Given the description of an element on the screen output the (x, y) to click on. 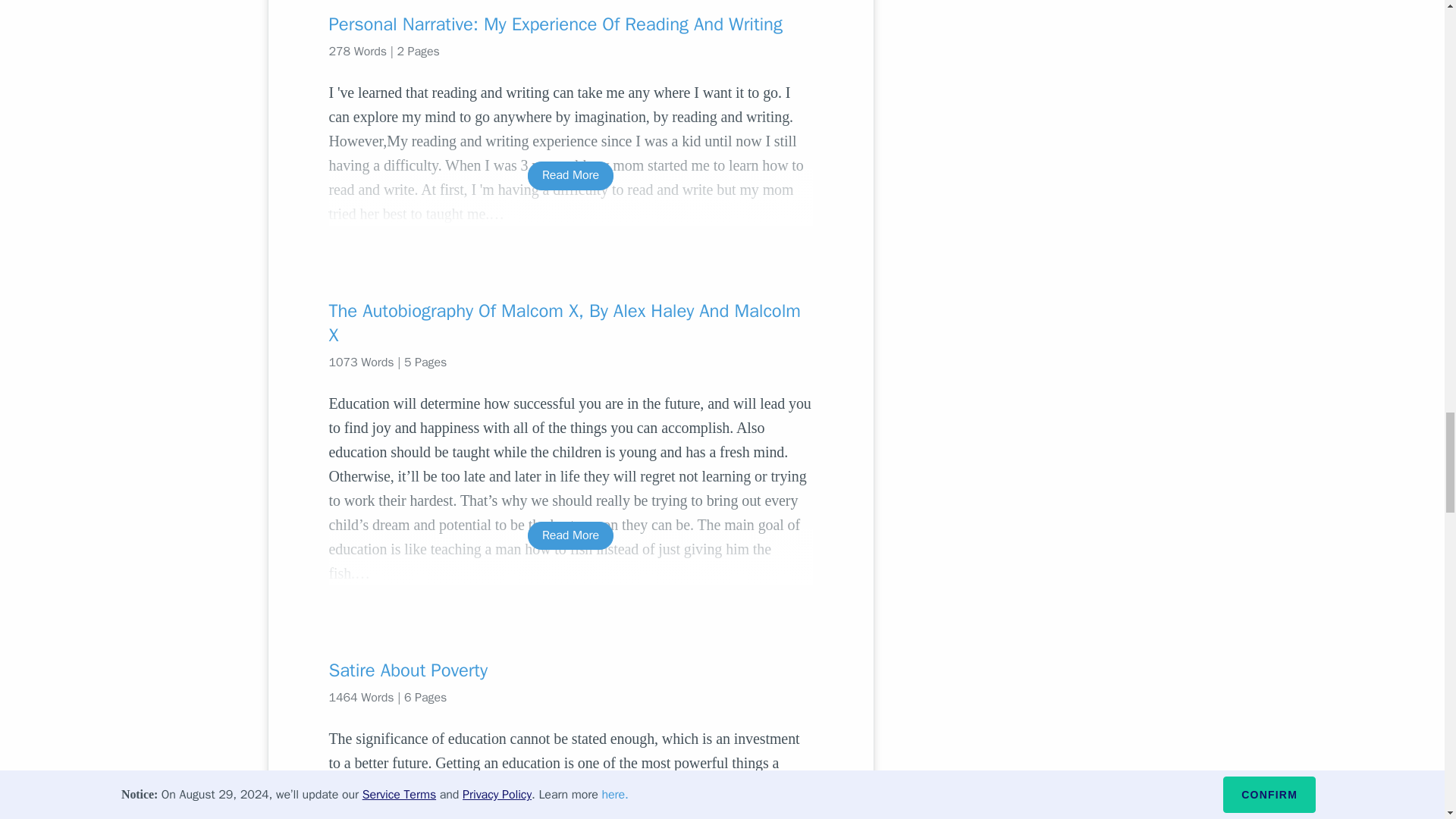
Satire About Poverty (570, 670)
Personal Narrative: My Experience Of Reading And Writing (570, 24)
The Autobiography Of Malcom X, By Alex Haley And Malcolm X (570, 323)
Read More (569, 175)
Read More (569, 535)
